Given the description of an element on the screen output the (x, y) to click on. 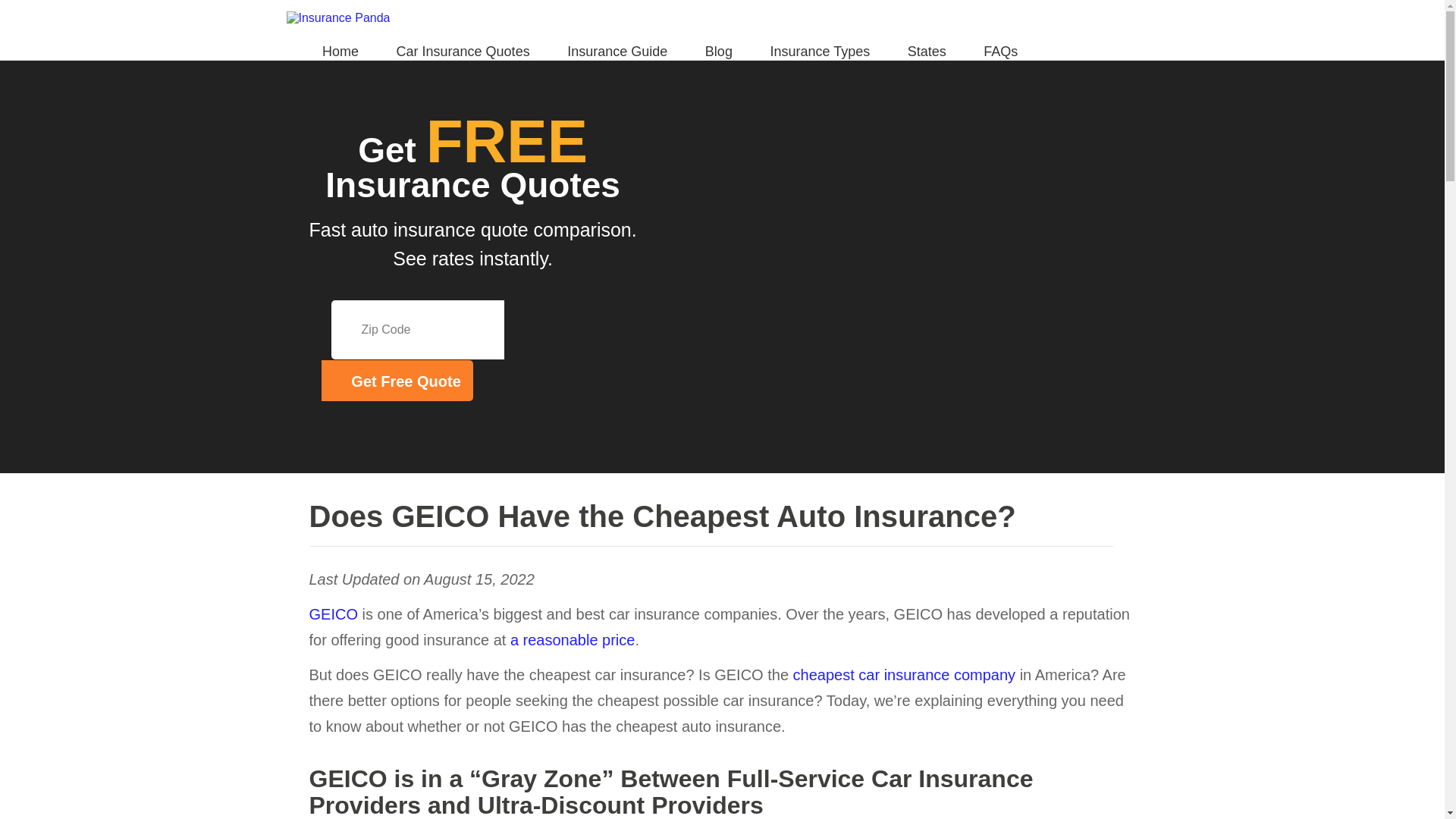
Linkedin (1120, 27)
cheapest car insurance company (904, 674)
Facebook (1056, 27)
a reasonable price (572, 639)
GEICO (333, 614)
Car Insurance Quotes (463, 54)
Twitter (1088, 27)
Home (340, 54)
Blog (718, 54)
States (926, 54)
